Given the description of an element on the screen output the (x, y) to click on. 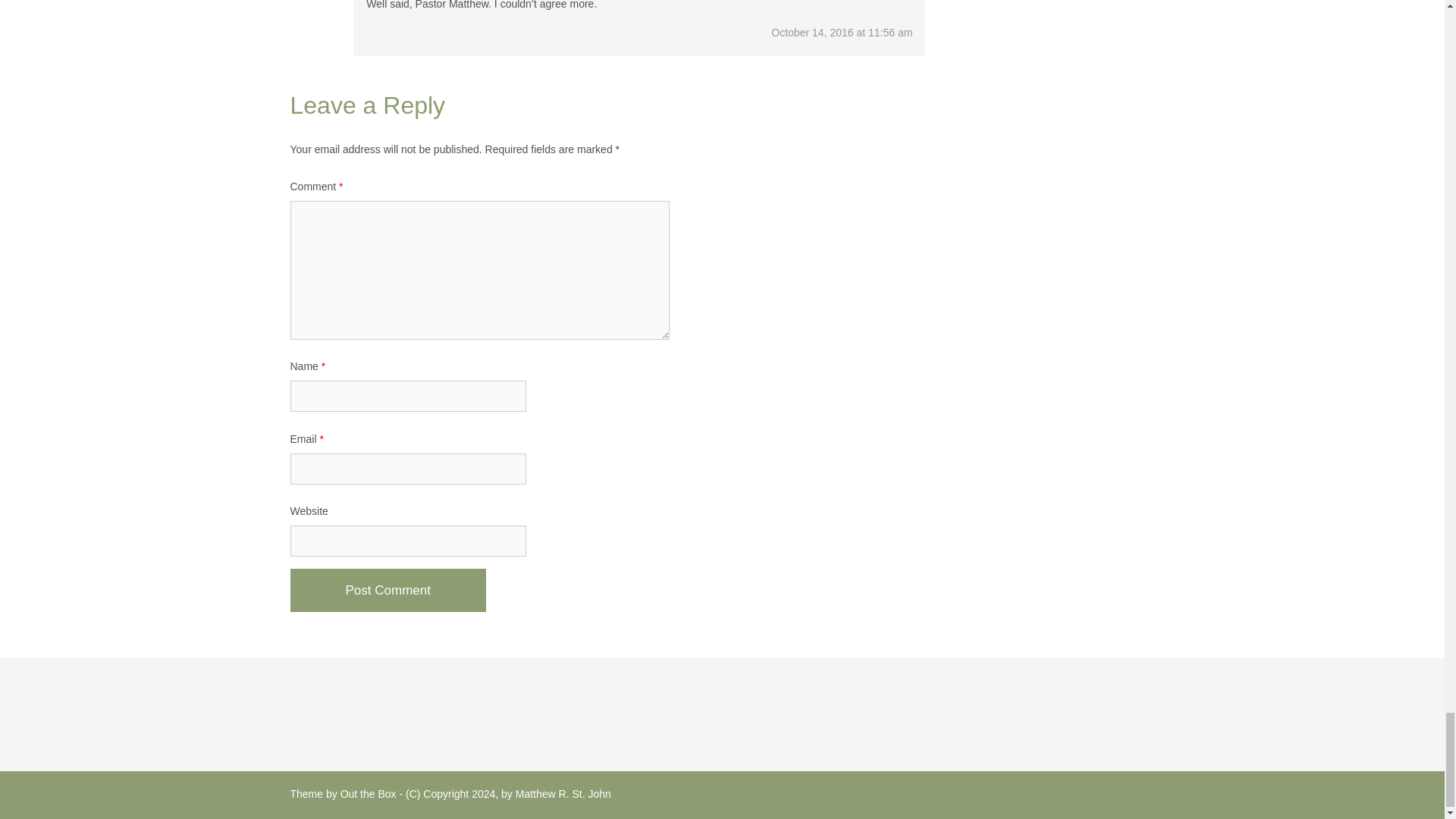
Post Comment (386, 589)
